Given the description of an element on the screen output the (x, y) to click on. 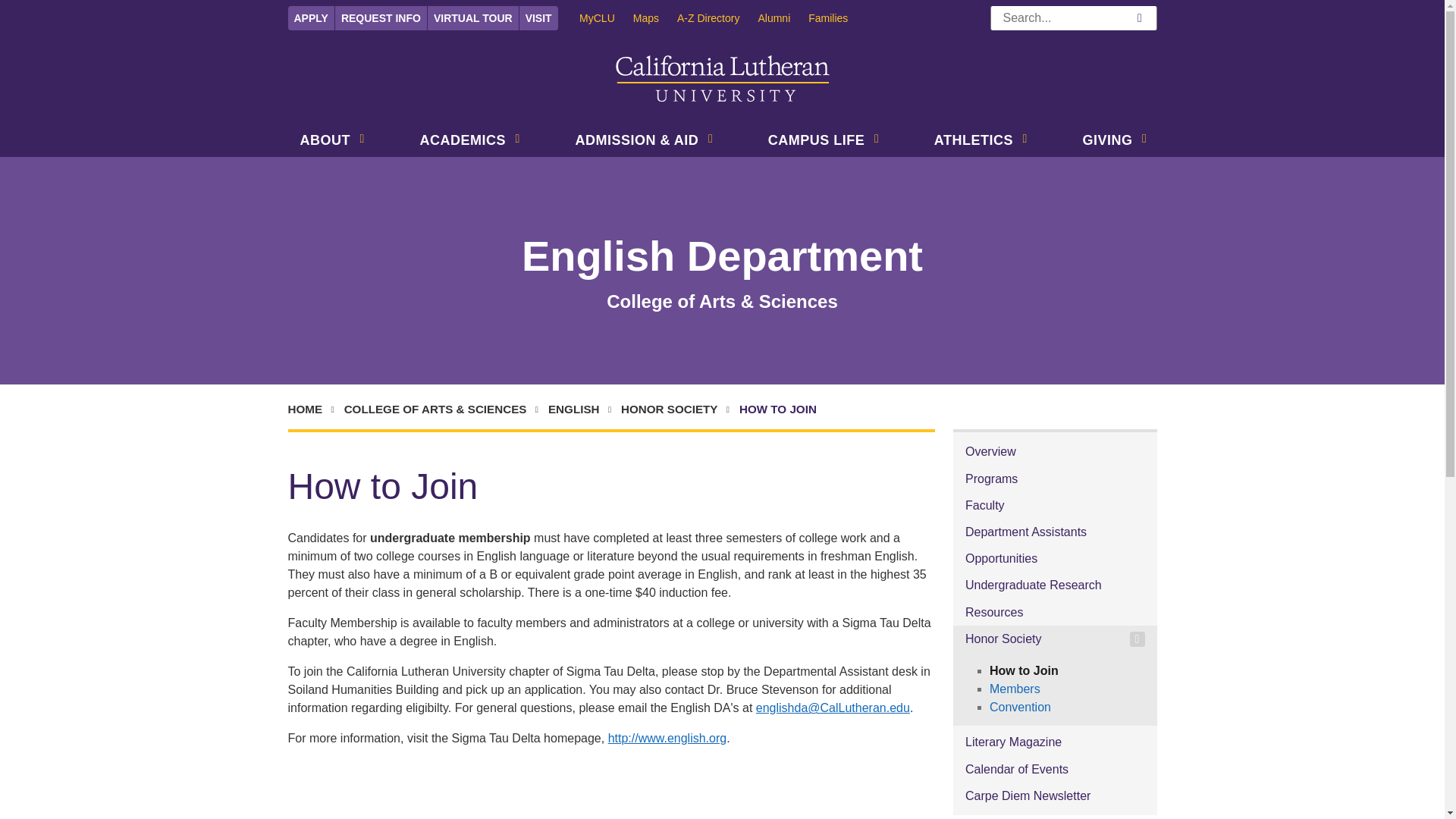
Alumni (782, 17)
ACADEMICS (459, 141)
Maps (655, 17)
California Lutheran University (722, 78)
VISIT (538, 17)
MyCLU (606, 17)
ABOUT (322, 141)
APPLY (311, 17)
Families (837, 17)
REQUEST INFO (380, 17)
A-Z Directory (717, 17)
home (314, 409)
VIRTUAL TOUR (473, 17)
